Given the description of an element on the screen output the (x, y) to click on. 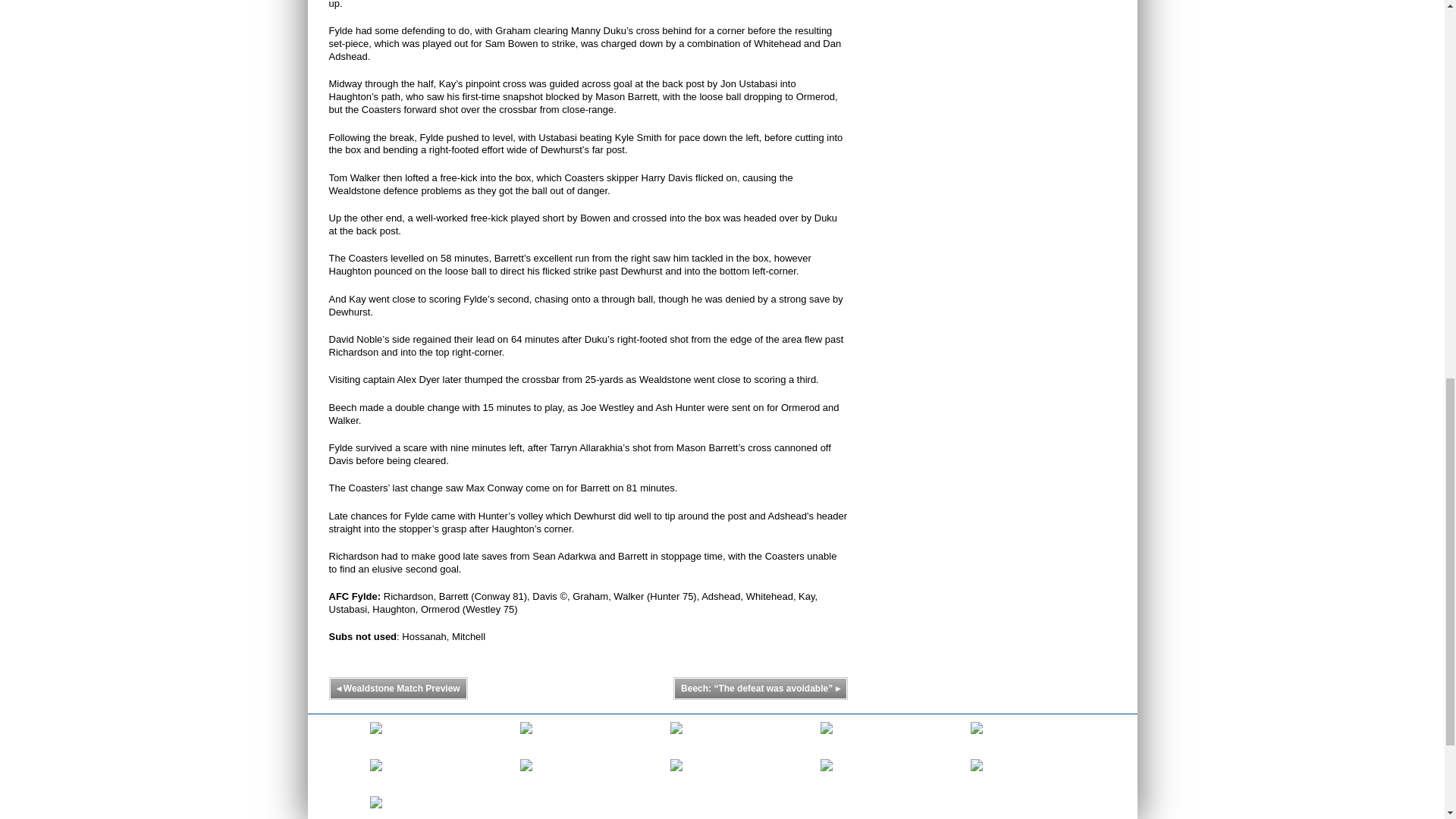
Rustlers (375, 812)
Dazn (675, 775)
UCBF (976, 737)
Bowker Motor Group (675, 737)
Switch 365 (375, 775)
The Baxter Group (525, 737)
New Balance (826, 737)
The National Lottery (976, 775)
The National League (826, 775)
Breck (525, 775)
